Given the description of an element on the screen output the (x, y) to click on. 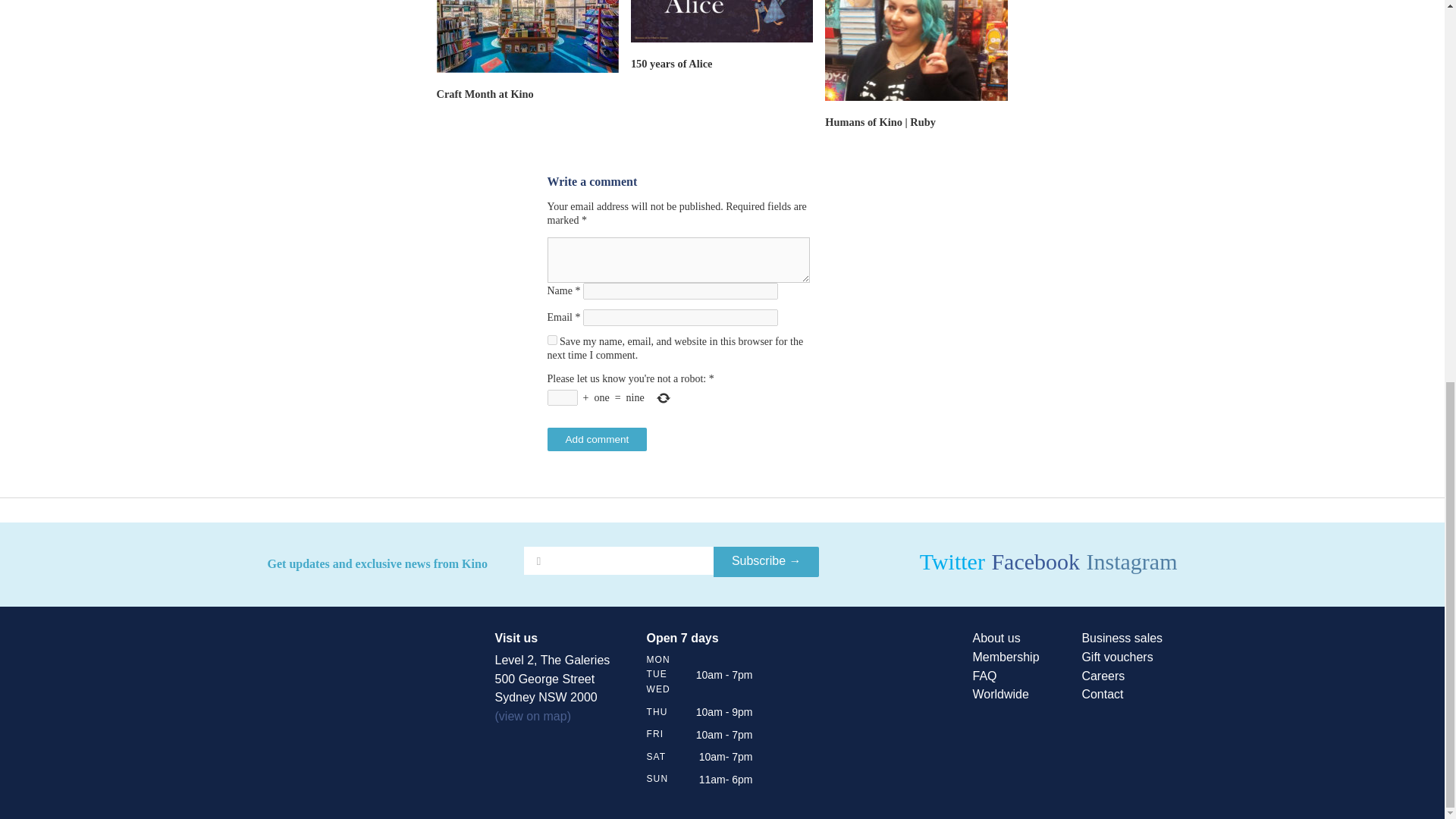
Add comment (597, 439)
150 years of Alice (671, 63)
yes (552, 339)
Craft Month at Kino (485, 93)
Craft Month at Kino (485, 93)
